Given the description of an element on the screen output the (x, y) to click on. 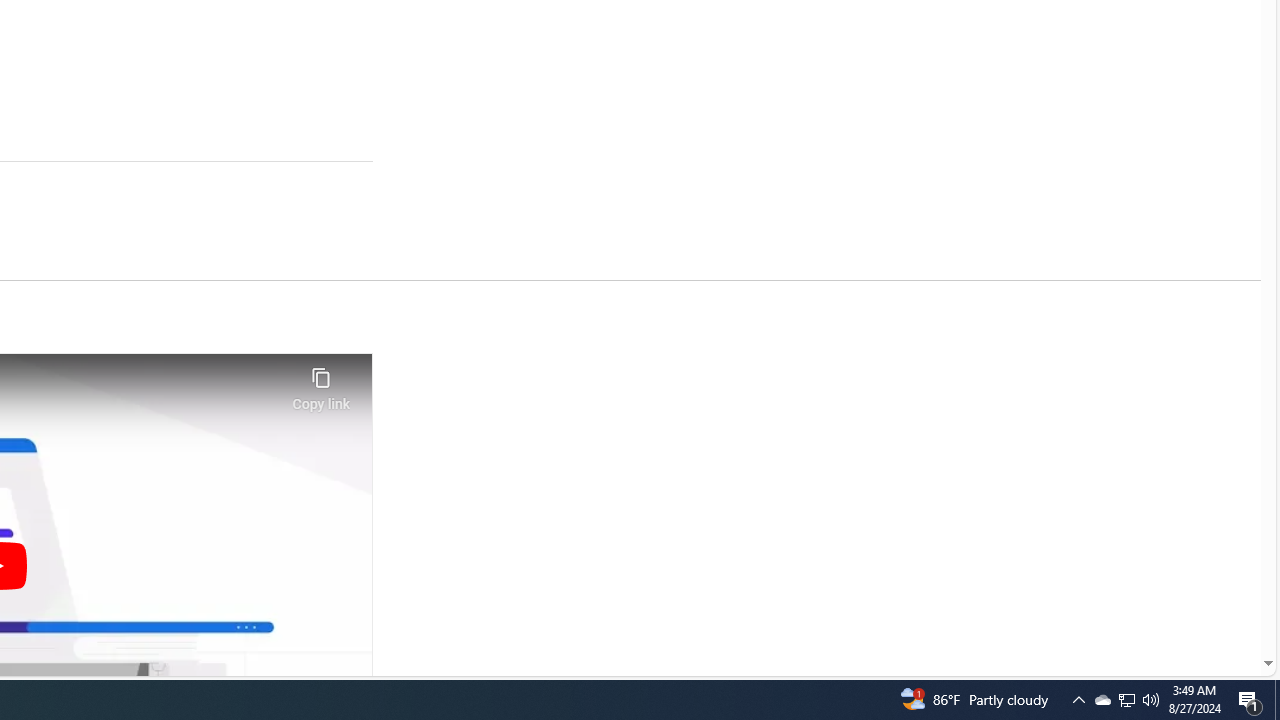
Copy link (320, 383)
